Given the description of an element on the screen output the (x, y) to click on. 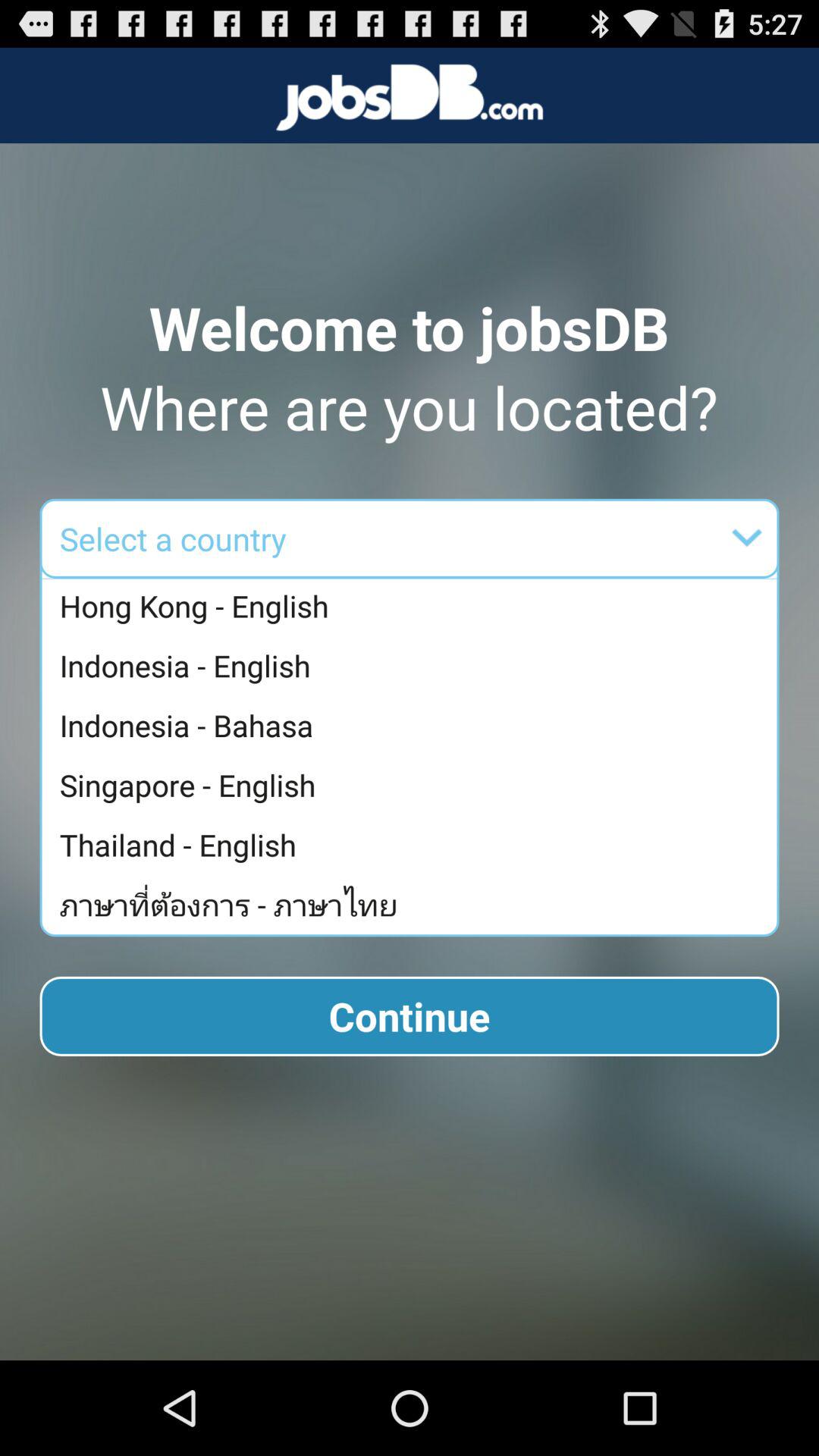
tap item above thailand - english (413, 785)
